Given the description of an element on the screen output the (x, y) to click on. 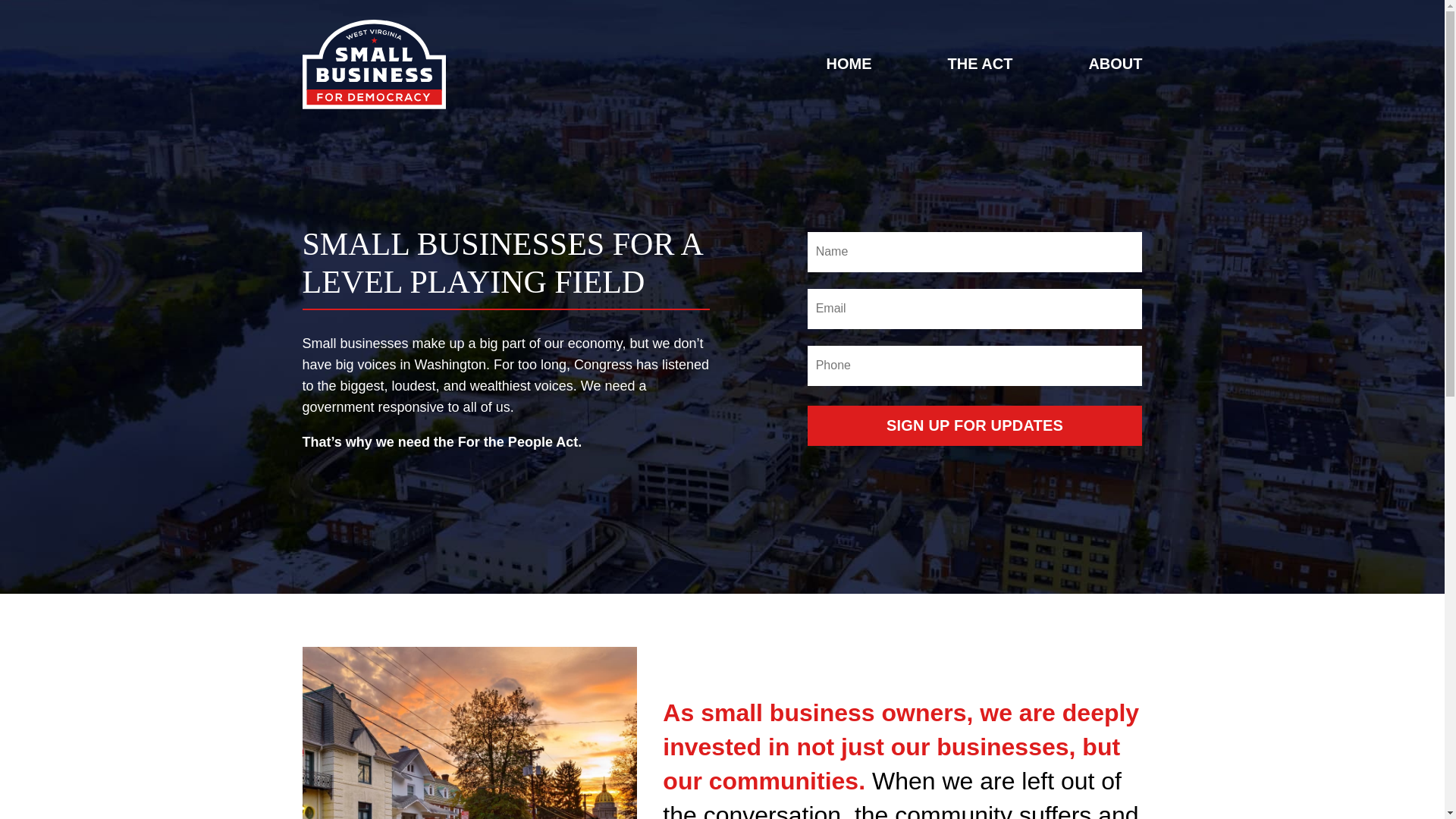
THE ACT (979, 63)
HOME (847, 63)
ABOUT (1114, 63)
Sign Up For Updates (975, 425)
Sign Up For Updates (975, 425)
